Given the description of an element on the screen output the (x, y) to click on. 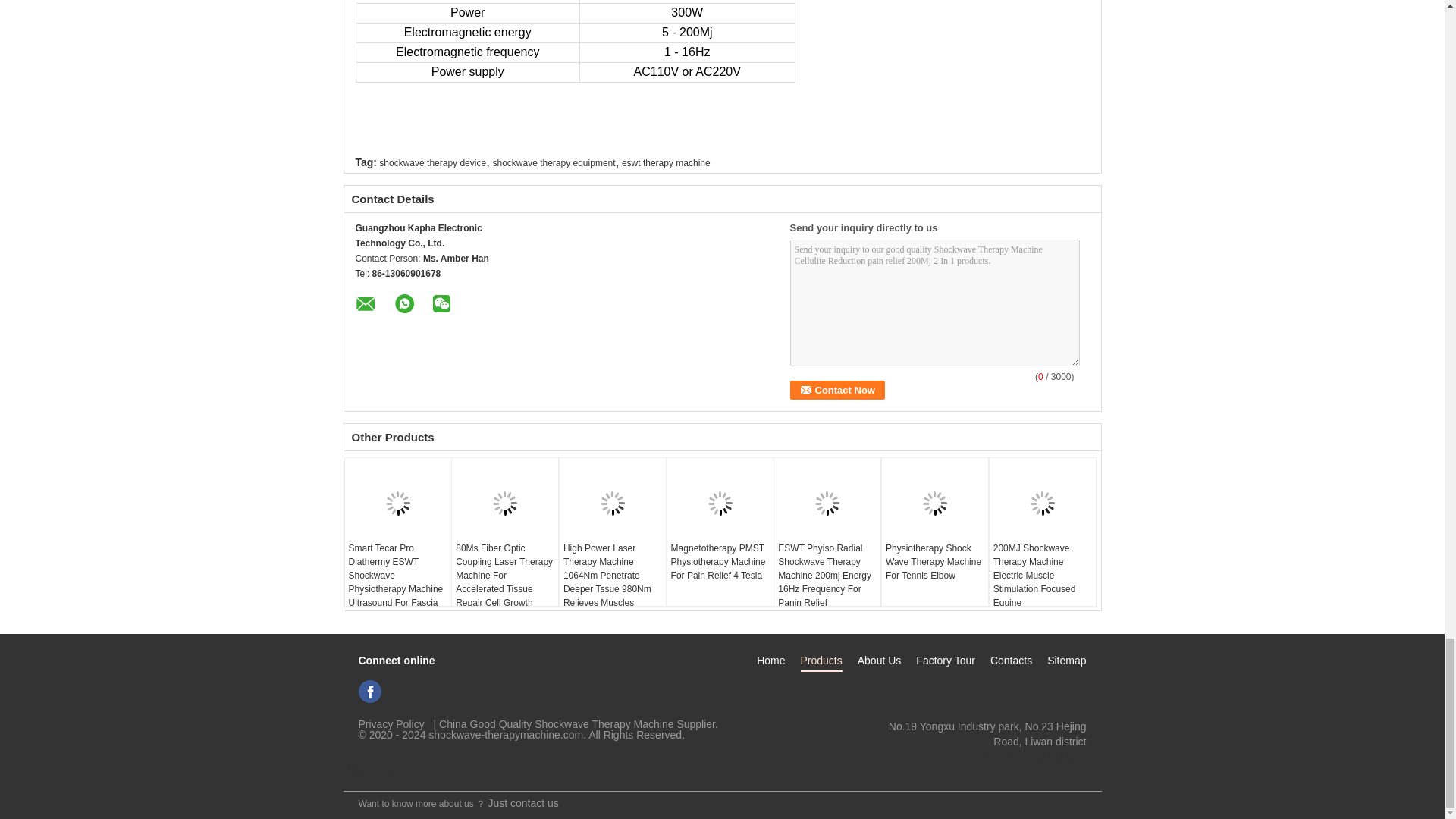
Contact Now (837, 389)
